Given the description of an element on the screen output the (x, y) to click on. 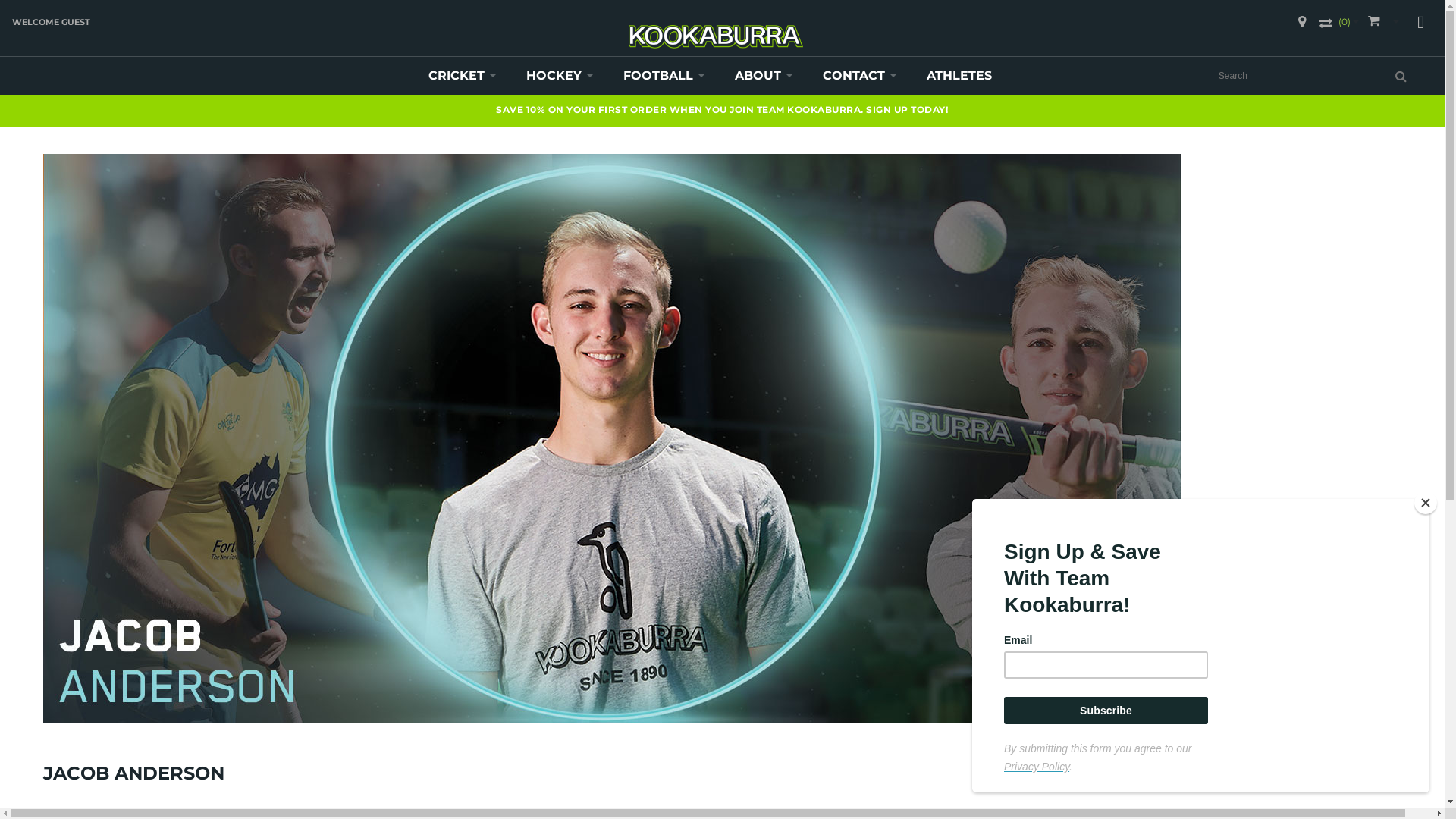
ATHLETES Element type: text (959, 75)
  Element type: text (1376, 21)
FIND A STORE Element type: text (1301, 21)
Search Element type: hover (1400, 75)
Login Element type: text (1420, 23)
ABOUT   Element type: text (763, 75)
CONTACT   Element type: text (859, 75)
Check the items in your Cart Element type: hover (1380, 21)
HOCKEY   Element type: text (559, 75)
FOOTBALL   Element type: text (663, 75)
CRICKET   Element type: text (462, 75)
